Given the description of an element on the screen output the (x, y) to click on. 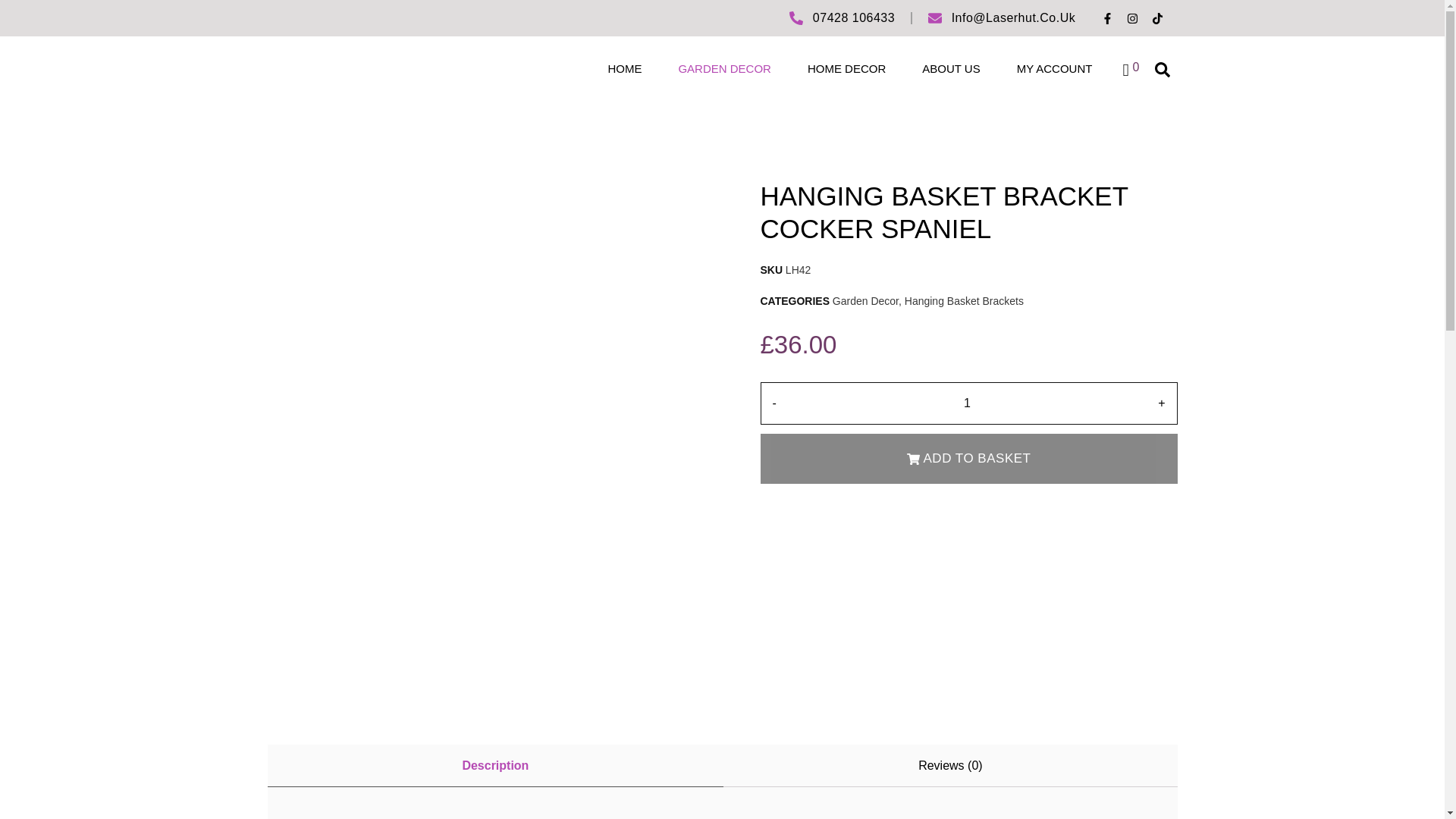
Garden Decor (865, 300)
HOME DECOR (846, 68)
HOME (624, 68)
Description (494, 765)
GARDEN DECOR (724, 68)
1 (967, 403)
Hanging Basket Brackets (963, 300)
ADD TO BASKET (968, 459)
ABOUT US (950, 68)
MY ACCOUNT (1054, 68)
